Given the description of an element on the screen output the (x, y) to click on. 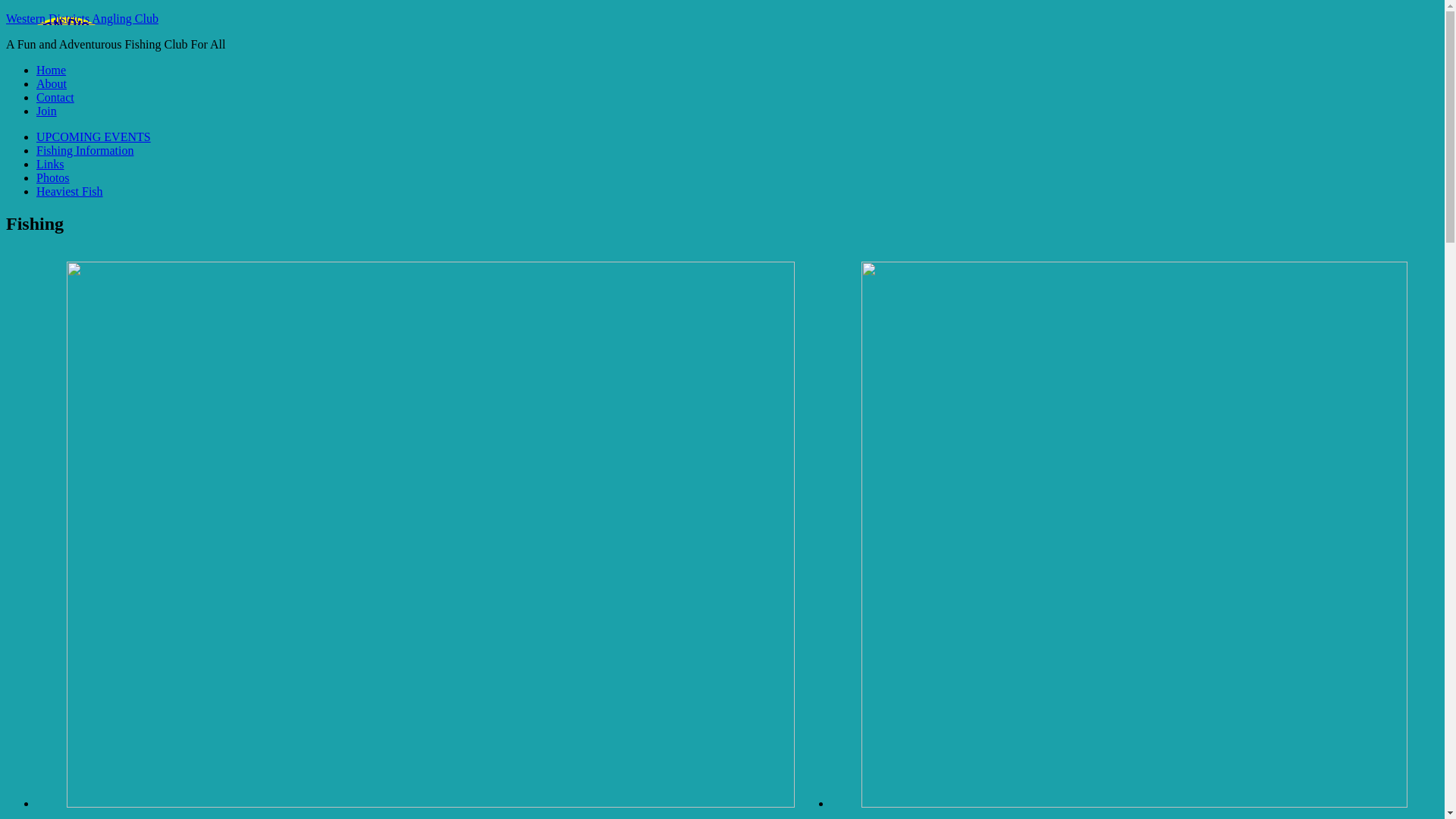
About Element type: text (51, 83)
Photos Element type: text (52, 177)
Heaviest Fish Element type: text (69, 191)
Contact Element type: text (55, 97)
Links Element type: text (49, 163)
Home Element type: text (50, 69)
Fishing Information Element type: text (84, 150)
UPCOMING EVENTS Element type: text (93, 136)
Join Element type: text (46, 110)
Western Districts Angling Club Element type: text (82, 18)
